Given the description of an element on the screen output the (x, y) to click on. 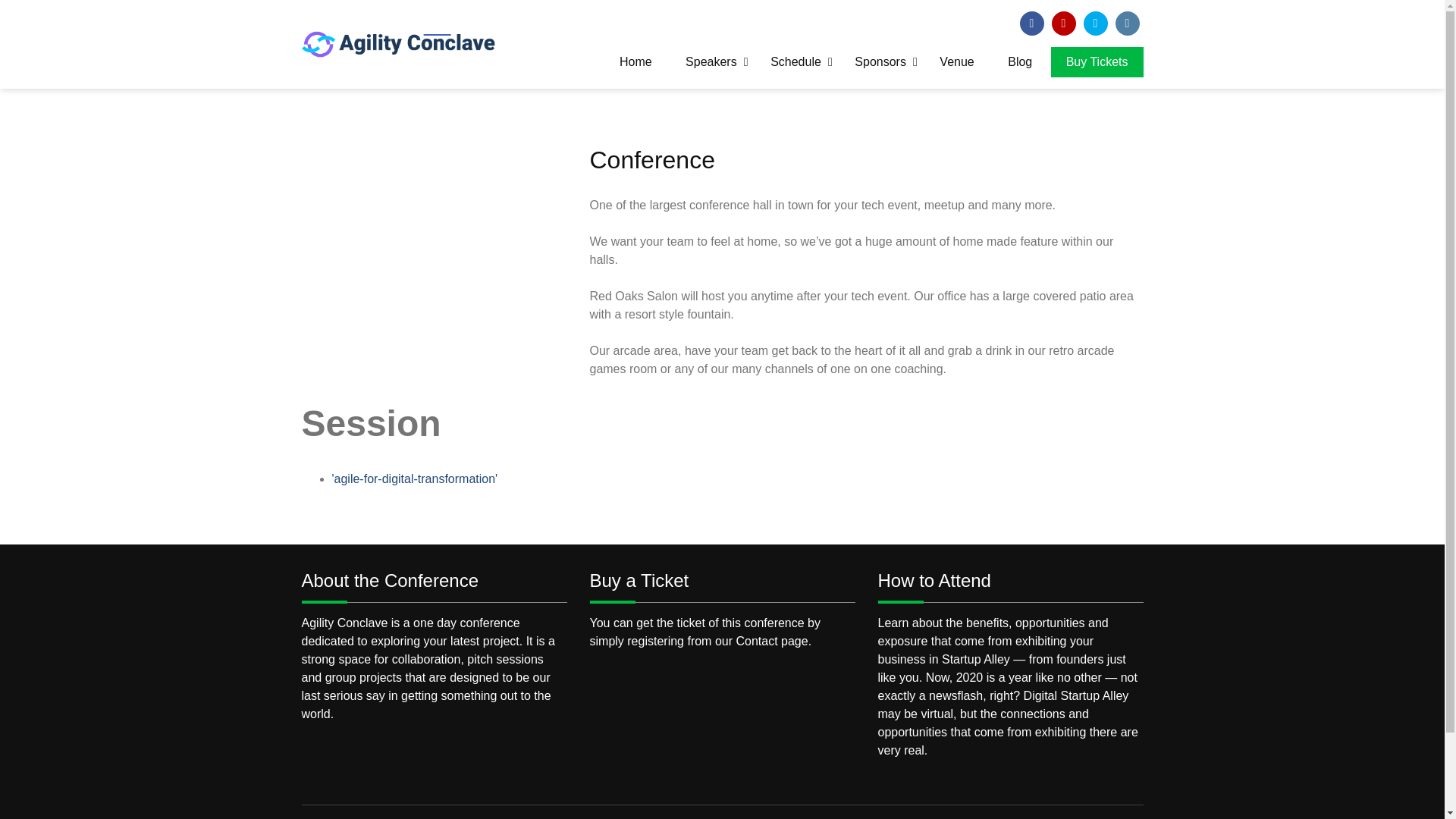
'agile-for-digital-transformation' (414, 478)
Buy Tickets (1096, 61)
Schedule (795, 61)
Sponsors (880, 61)
Home (635, 61)
Blog (1019, 61)
Venue (956, 61)
Speakers (710, 61)
